Given the description of an element on the screen output the (x, y) to click on. 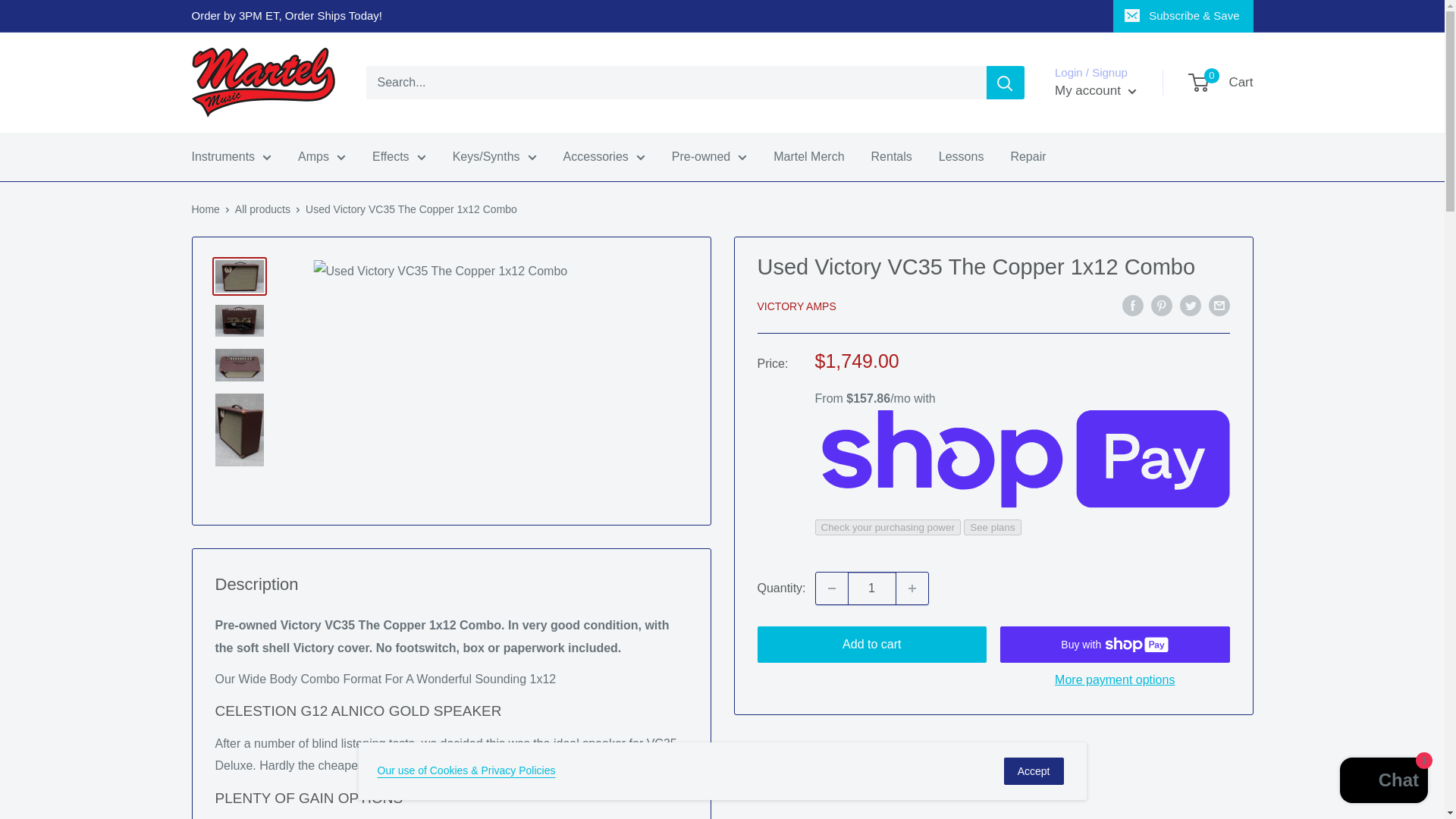
Privacy Policy (466, 770)
Shopify online store chat (1383, 781)
Increase quantity by 1 (912, 588)
Decrease quantity by 1 (831, 588)
1 (871, 588)
